Given the description of an element on the screen output the (x, y) to click on. 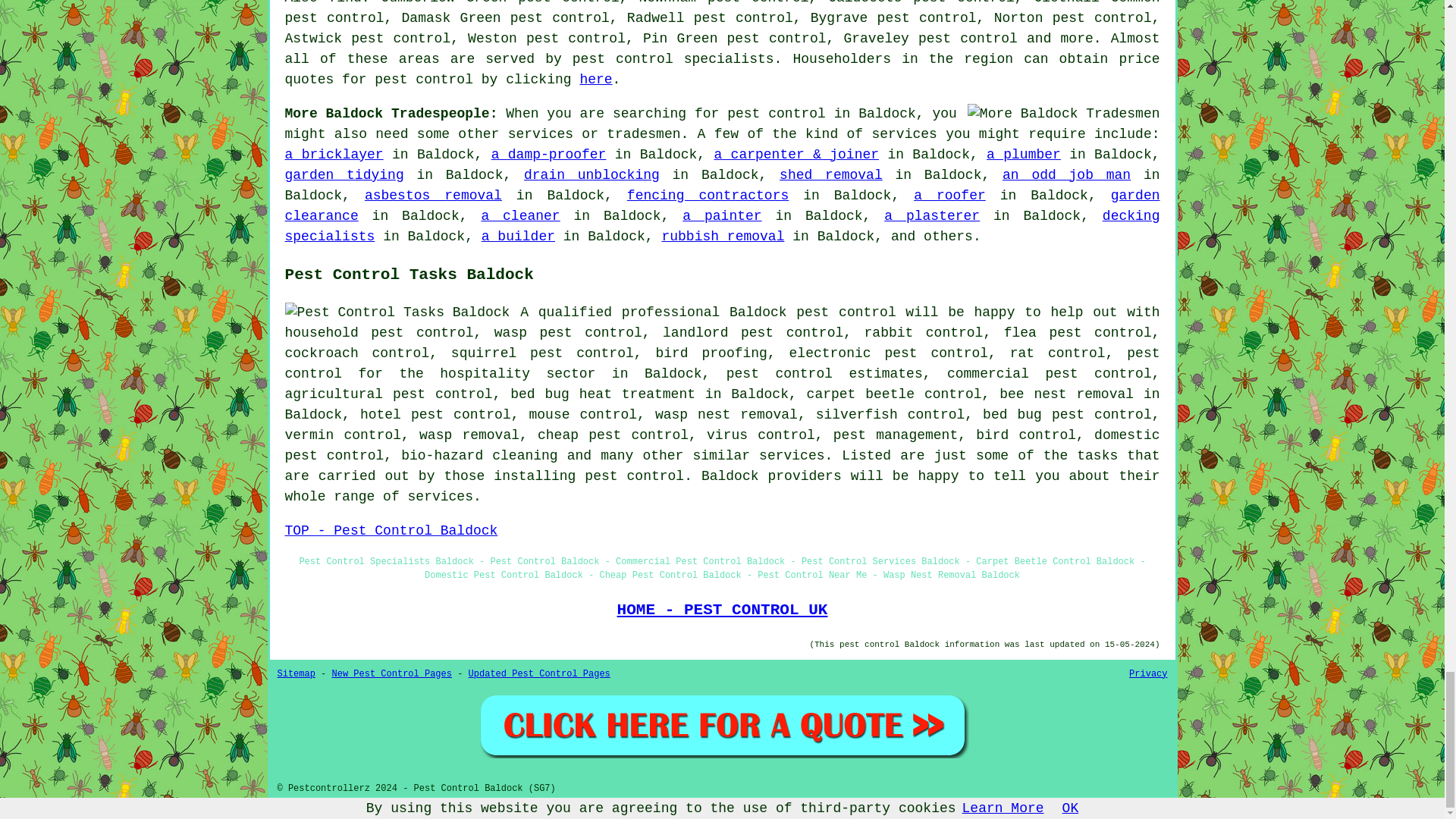
Pest Control Tasks Baldock (398, 312)
pest control (845, 312)
More Baldock Tradesmen (1064, 114)
household pest control (379, 332)
